Given the description of an element on the screen output the (x, y) to click on. 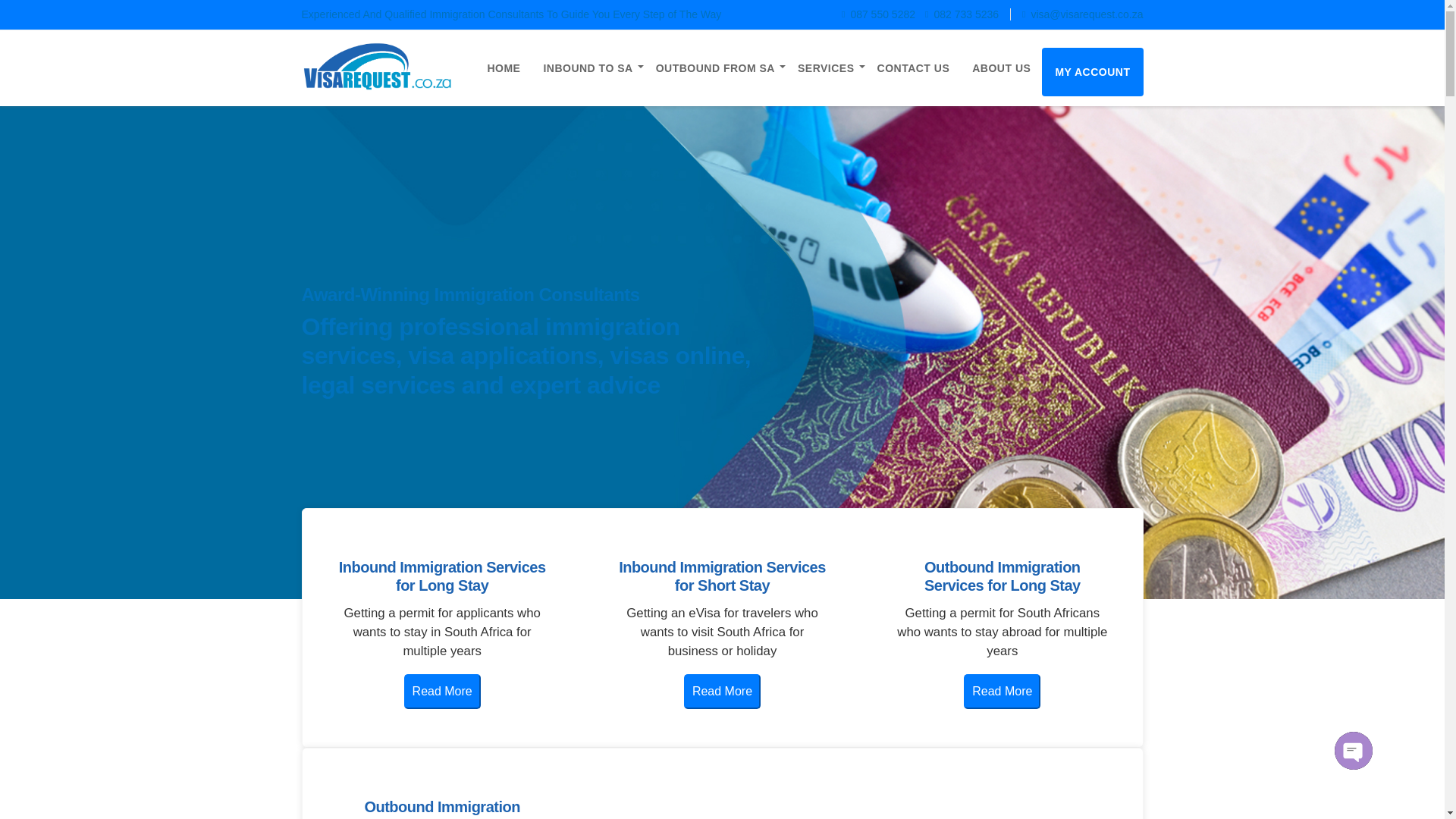
My Account (1092, 71)
087 550 5282 (876, 14)
OUTBOUND FROM SA (715, 67)
HOME (503, 67)
MY ACCOUNT (1092, 71)
082 733 5236 (962, 14)
SERVICES (826, 67)
ABOUT US (1001, 67)
CONTACT US (913, 67)
INBOUND TO SA (587, 67)
